Given the description of an element on the screen output the (x, y) to click on. 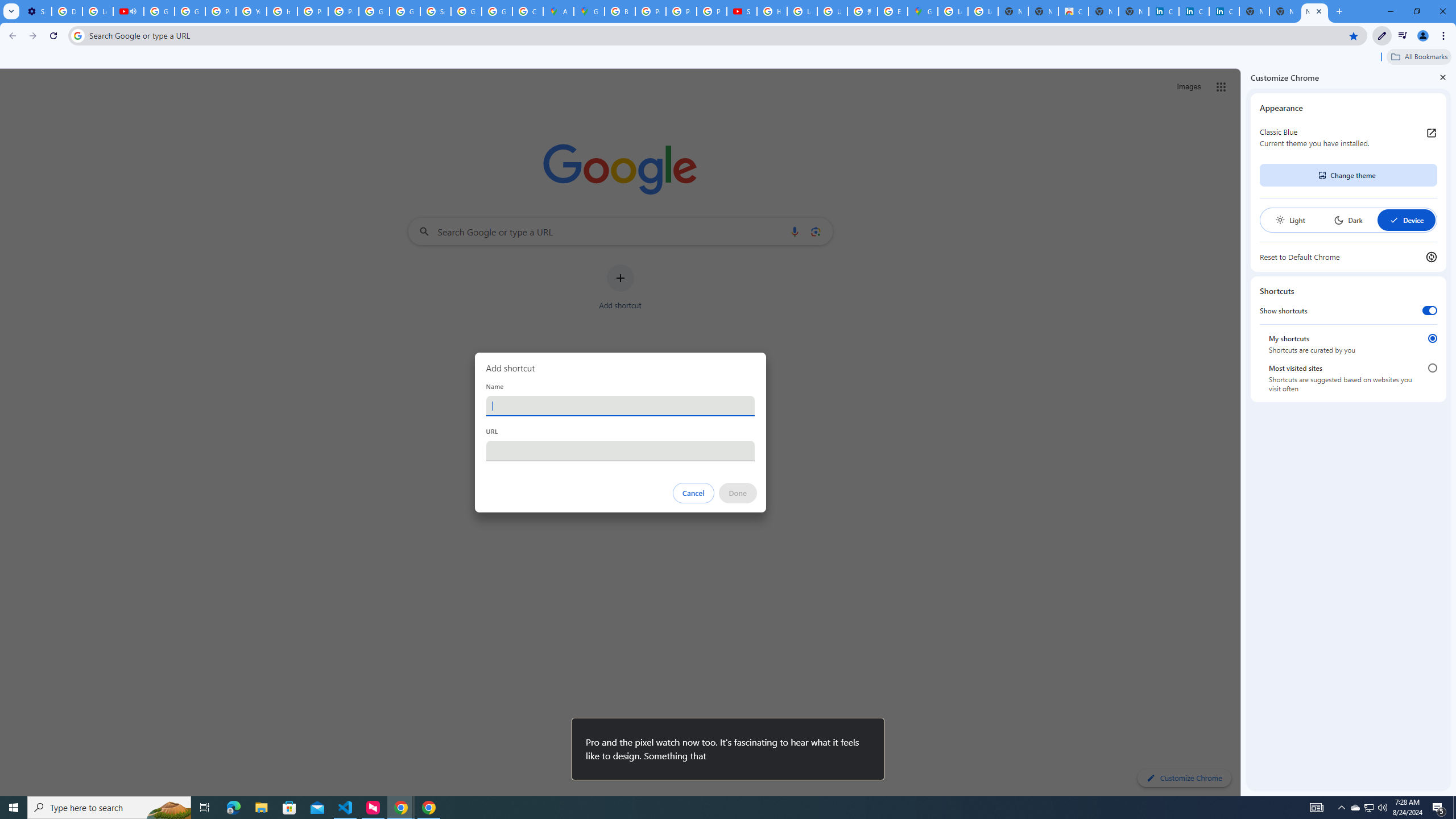
Reset to Default Chrome (1347, 256)
Light (1289, 219)
Chrome Web Store (1072, 11)
Classic Blue Current theme you have installed. (1347, 137)
Name (620, 405)
Done (737, 493)
Privacy Help Center - Policies Help (312, 11)
